Given the description of an element on the screen output the (x, y) to click on. 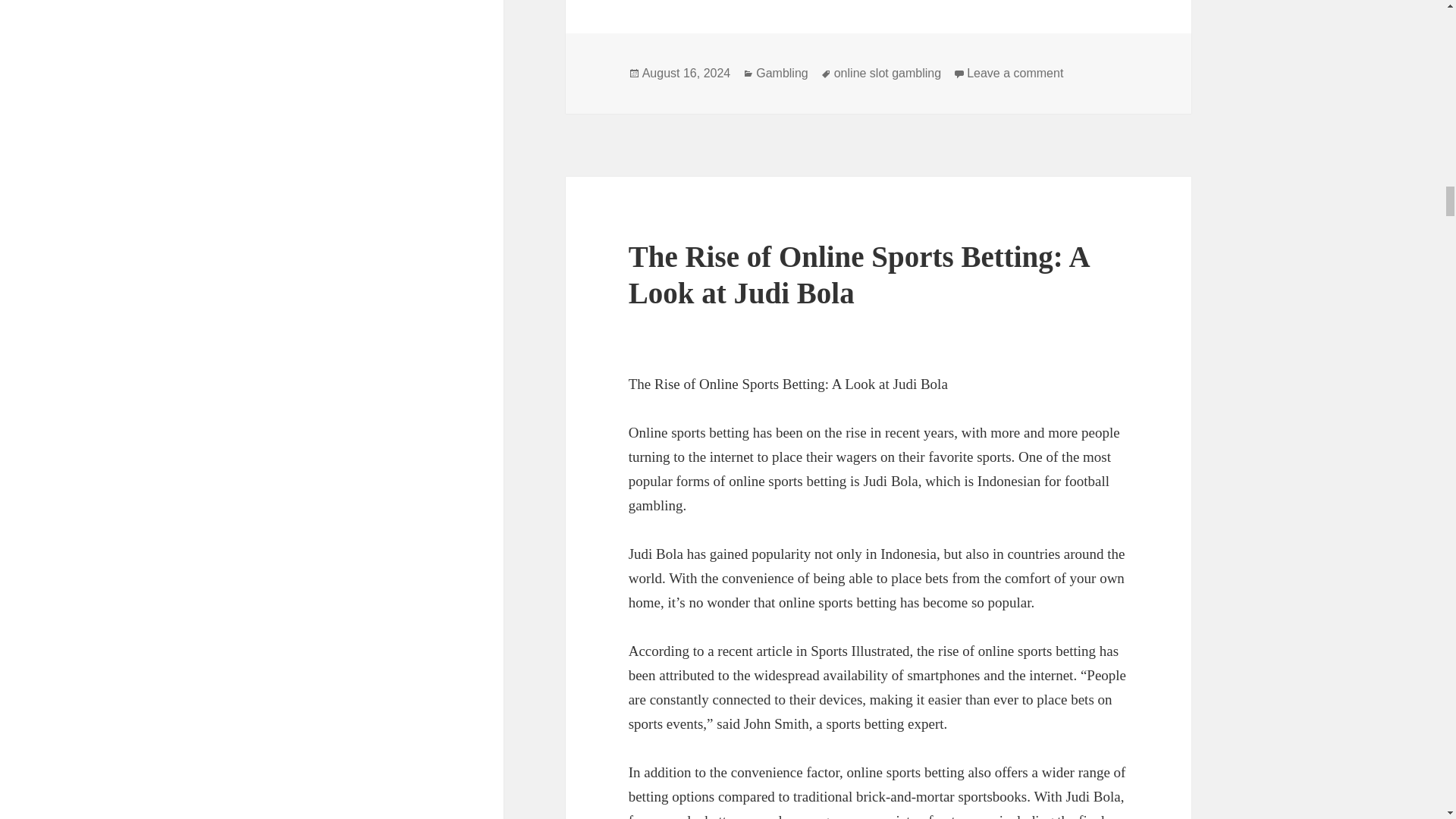
The Rise of Online Sports Betting: A Look at Judi Bola (858, 274)
Gambling (781, 73)
August 16, 2024 (686, 73)
online slot gambling (887, 73)
